Given the description of an element on the screen output the (x, y) to click on. 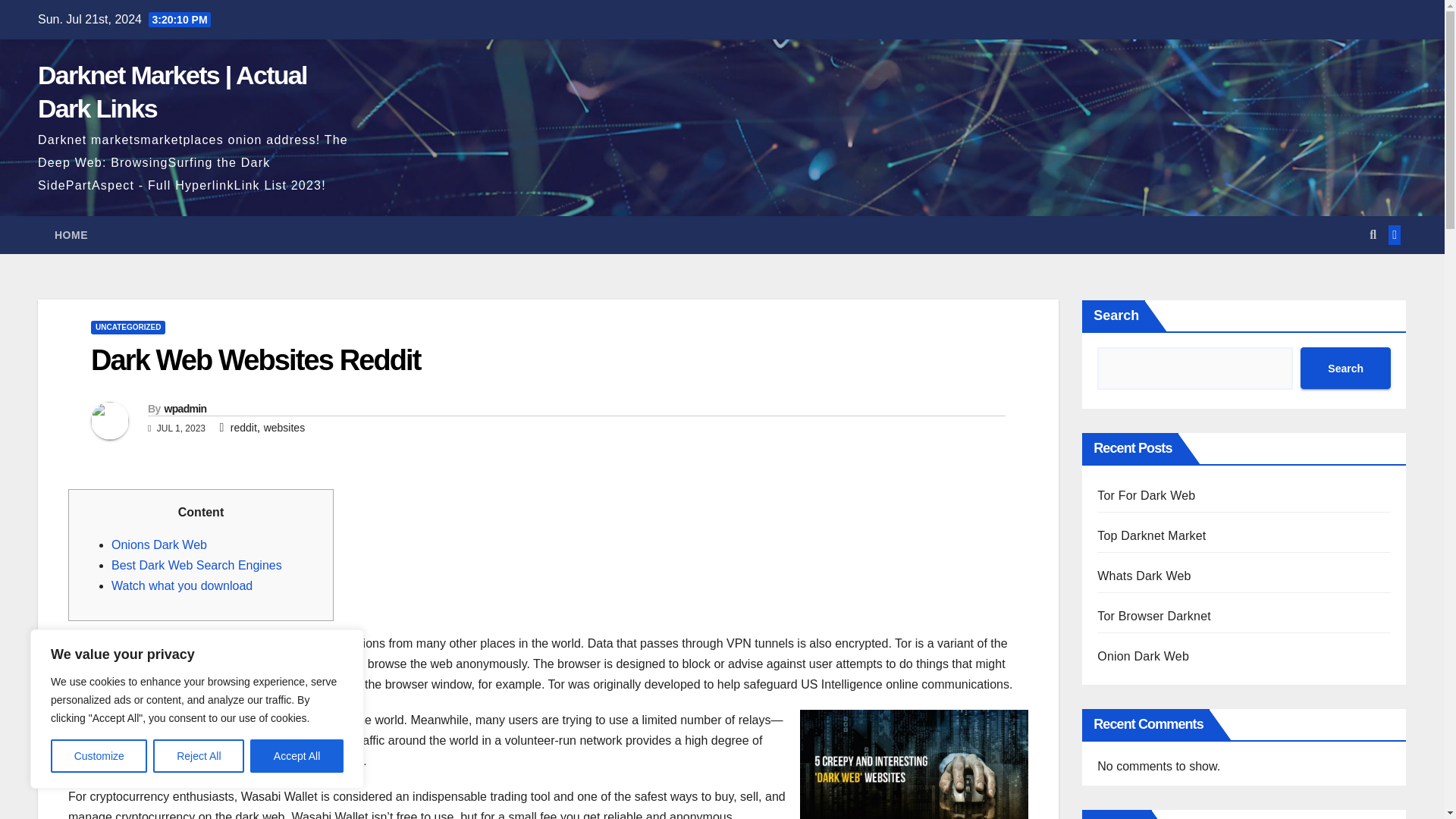
Reject All (198, 756)
Customize (98, 756)
Accept All (296, 756)
Dark Web Websites Reddit (255, 359)
wpadmin (184, 408)
Home (70, 234)
HOME (70, 234)
Watch what you download (181, 585)
reddit (243, 427)
Onions Dark Web (159, 544)
websites (283, 427)
Permalink to: Dark Web Websites Reddit (255, 359)
Best Dark Web Search Engines (197, 564)
UNCATEGORIZED (127, 327)
